Given the description of an element on the screen output the (x, y) to click on. 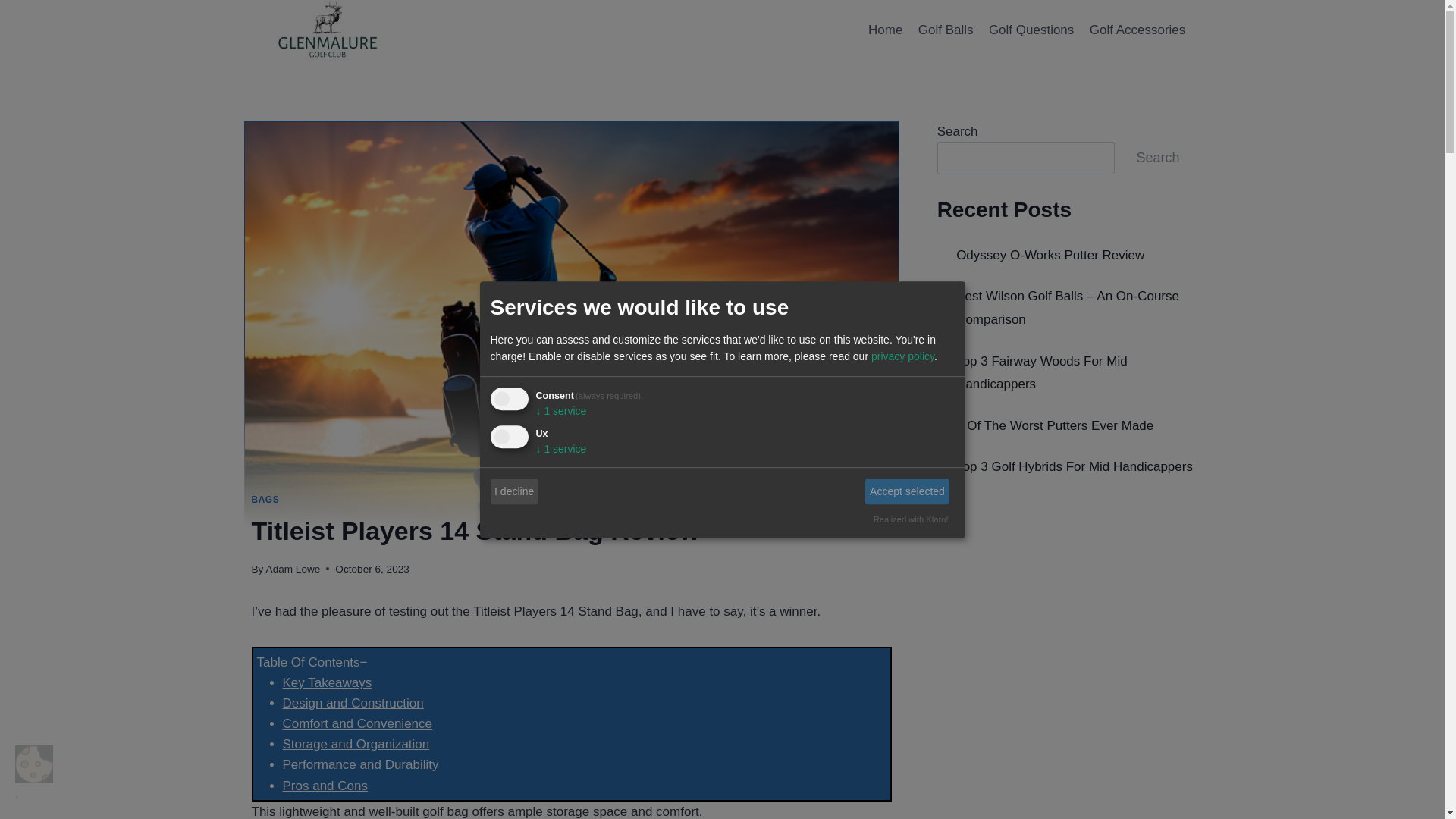
Performance and Durability (360, 764)
Adam Lowe (293, 568)
This services is always required (606, 395)
Key Takeaways (326, 682)
Golf Questions (1031, 30)
Golf Accessories (1137, 30)
Golf Balls (946, 30)
BAGS (265, 499)
Storage and Organization (355, 744)
Cookie consents (33, 763)
